Given the description of an element on the screen output the (x, y) to click on. 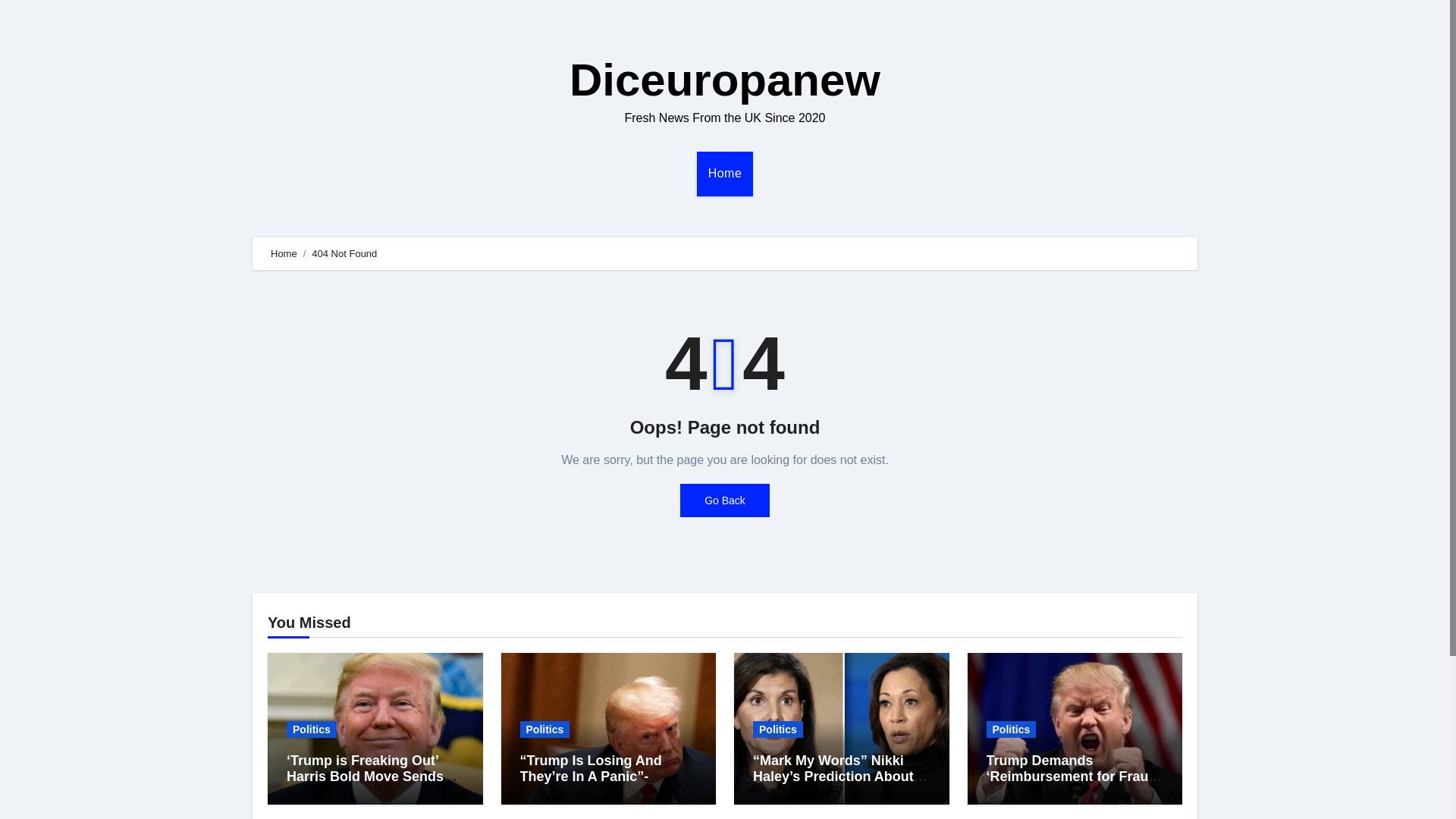
Home (283, 253)
Diceuropanew (724, 79)
Politics (311, 729)
Politics (1010, 729)
Go Back (724, 500)
Home (725, 173)
Home (725, 173)
Politics (777, 729)
Politics (544, 729)
